Given the description of an element on the screen output the (x, y) to click on. 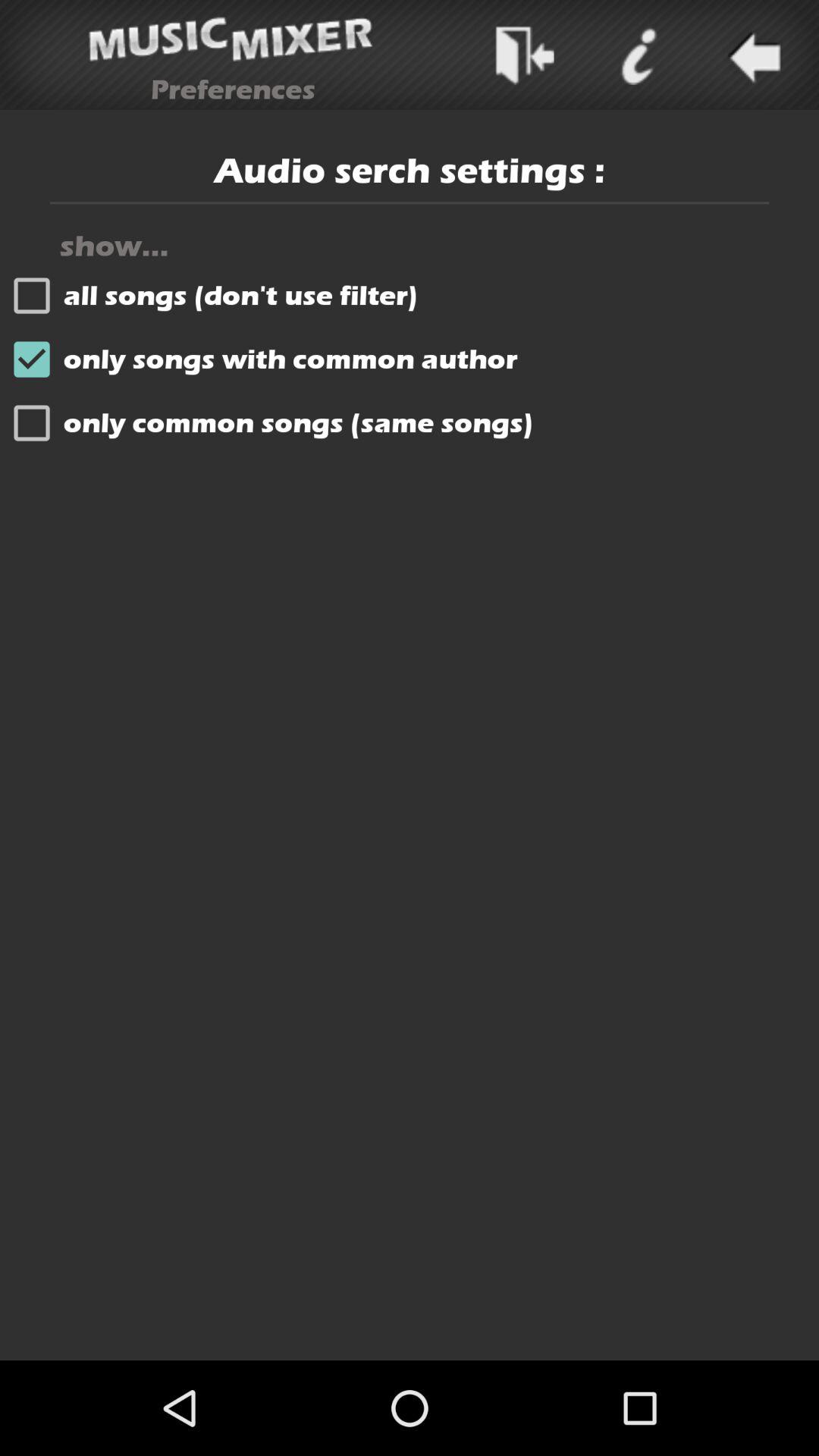
icone sympol (638, 54)
